Given the description of an element on the screen output the (x, y) to click on. 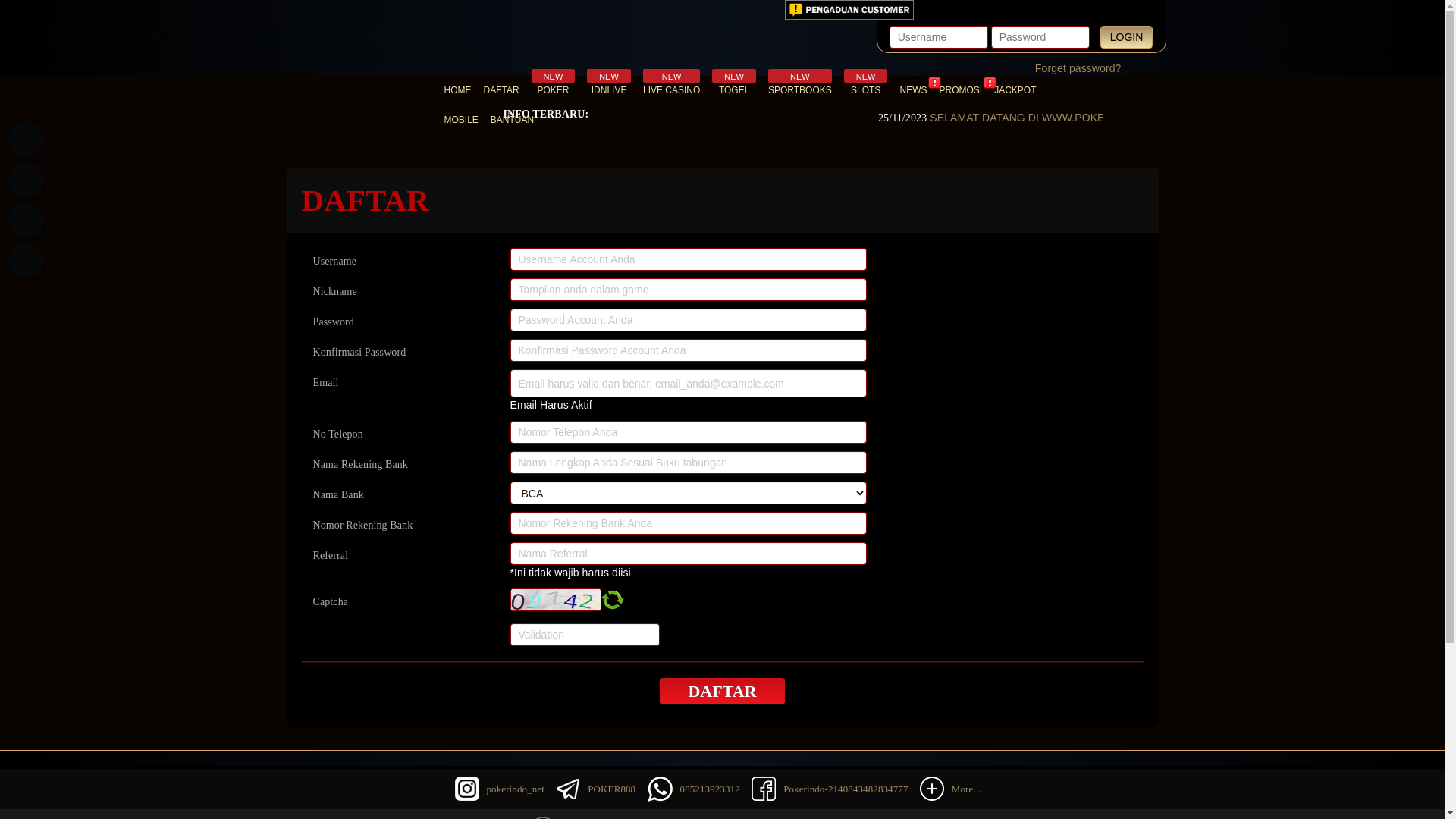
pokerindo_net Element type: text (515, 788)
HOME Element type: text (457, 90)
DAFTAR Element type: text (721, 690)
NEW
LIVE CASINO Element type: text (671, 90)
NEW
IDNLIVE Element type: text (608, 90)
BANTUAN Element type: text (511, 119)
Pokerindonesia88-241754883134407 Element type: text (25, 179)
PROMOSI Element type: text (960, 90)
NEW
SPORTBOOKS Element type: text (799, 90)
085213923312 Element type: text (25, 219)
NEW
SLOTS Element type: text (865, 90)
JACKPOT Element type: text (1014, 90)
pokerindo_net Element type: text (25, 259)
Pokerindo-2140843482834777 Element type: text (845, 788)
Refresh Captcha Element type: hover (611, 599)
NEW
POKER Element type: text (553, 90)
Captcha Element type: hover (554, 599)
NEWS Element type: text (912, 90)
085213923312 Element type: text (710, 788)
POKER888 Element type: text (611, 788)
NEW
TOGEL Element type: text (734, 90)
Forget password? Element type: text (1078, 68)
POKER888 Element type: text (25, 139)
MOBILE Element type: text (461, 119)
DAFTAR Element type: text (501, 90)
LOGIN Element type: text (1126, 36)
